Given the description of an element on the screen output the (x, y) to click on. 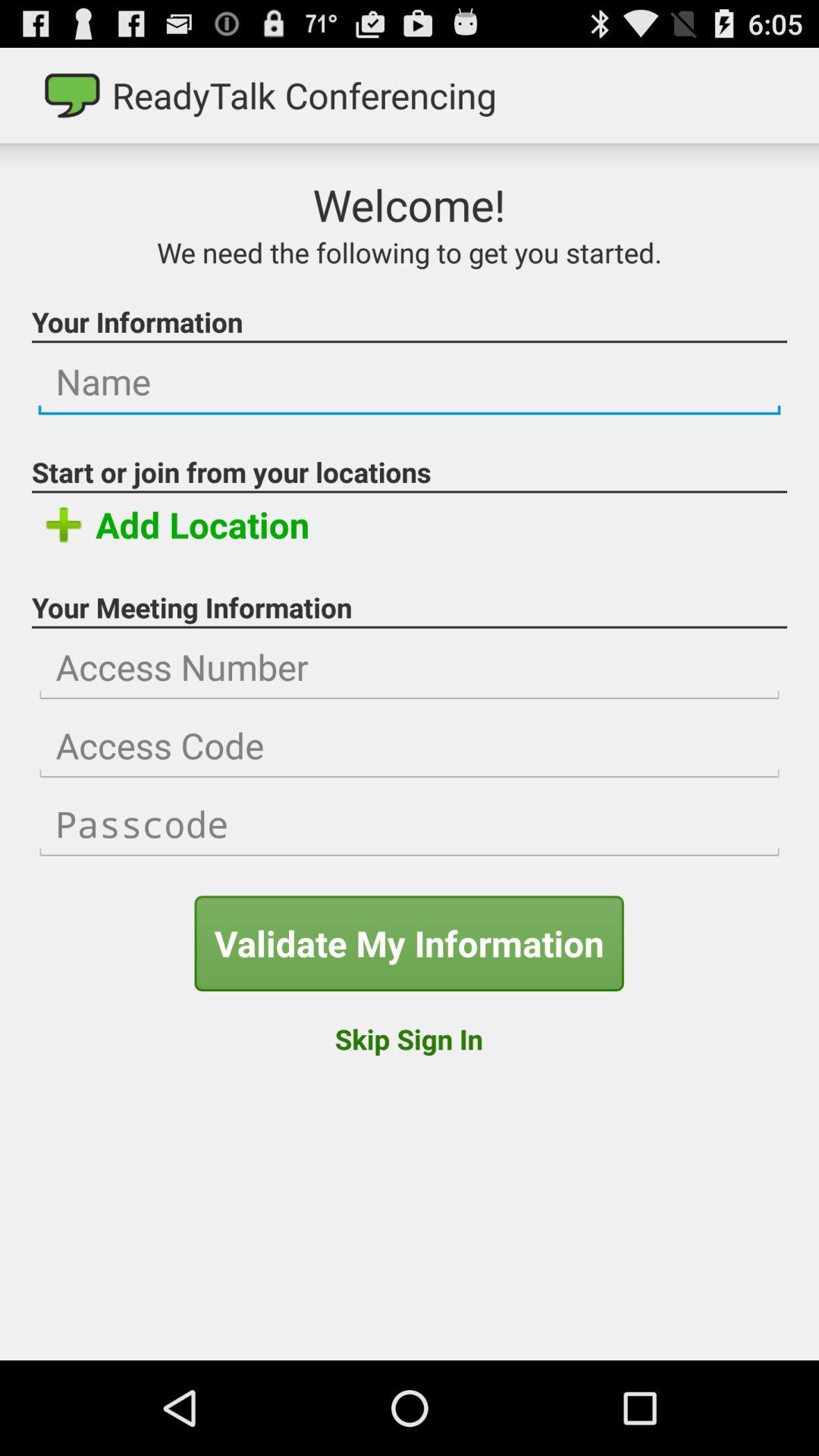
swipe until skip sign in button (408, 1038)
